Given the description of an element on the screen output the (x, y) to click on. 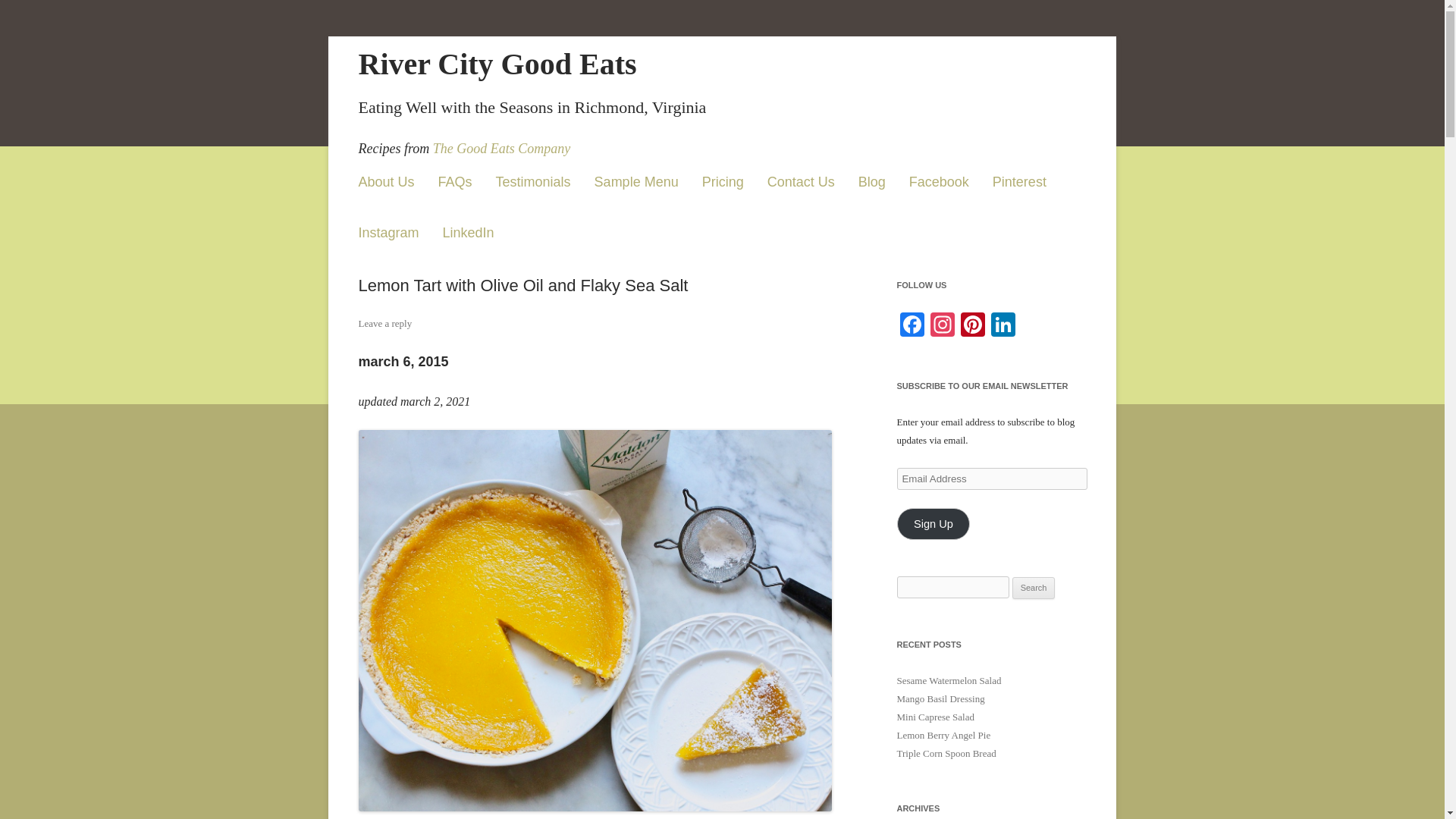
Leave a reply (385, 323)
Contact Us (800, 182)
Instagram (388, 232)
LinkedIn (468, 232)
Skip to content (864, 146)
Sample Menu (636, 182)
The Good Eats Company (501, 148)
Testimonials (533, 182)
Pinterest (1019, 182)
Skip to content (864, 146)
